Given the description of an element on the screen output the (x, y) to click on. 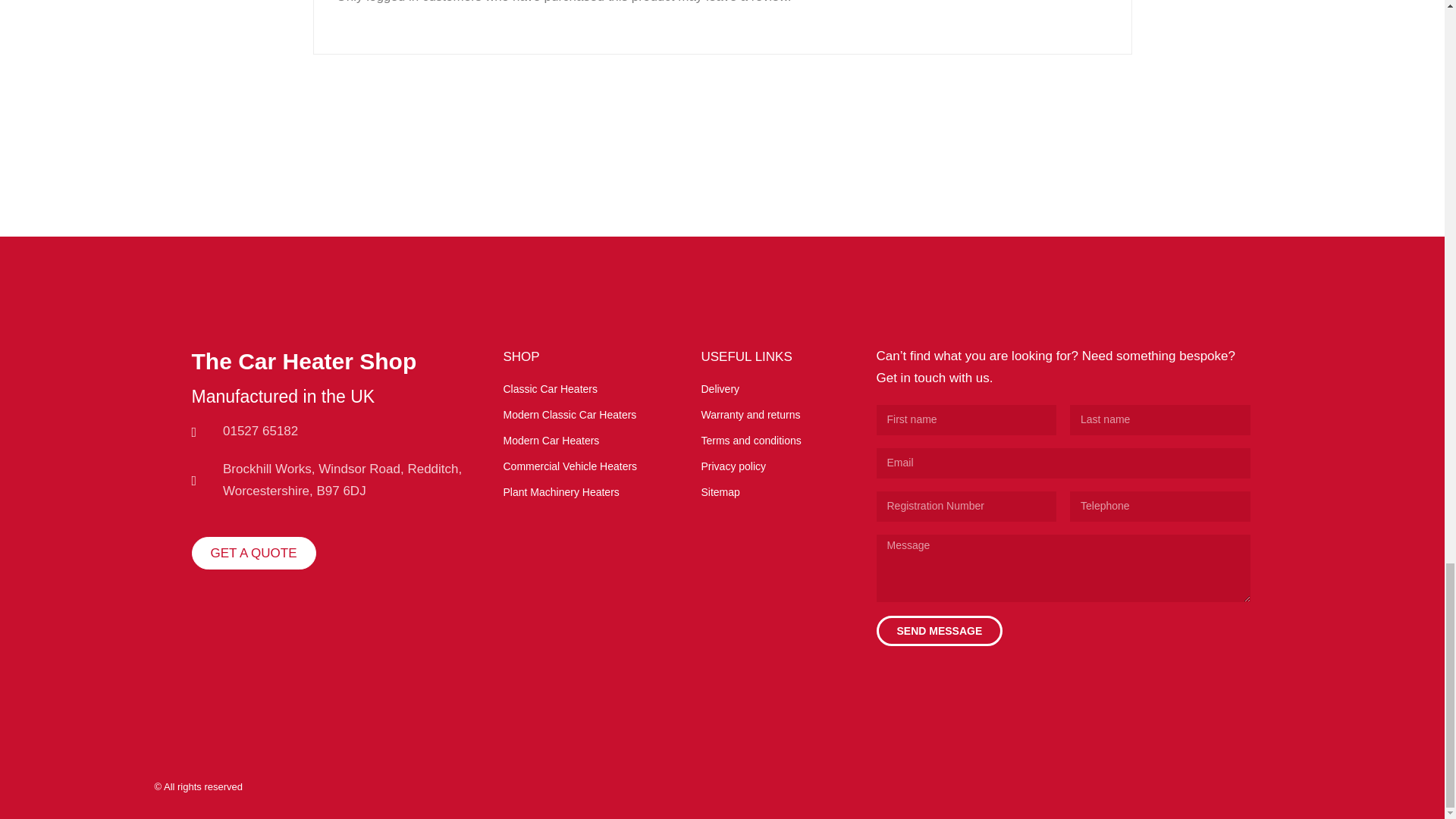
Plant Machinery Heaters (579, 492)
GET A QUOTE (252, 553)
Delivery (776, 389)
Commercial Vehicle Heaters (579, 466)
Modern Classic Car Heaters (579, 414)
Classic Car Heaters (579, 389)
Modern Car Heaters (579, 440)
Warranty and returns (776, 414)
